Given the description of an element on the screen output the (x, y) to click on. 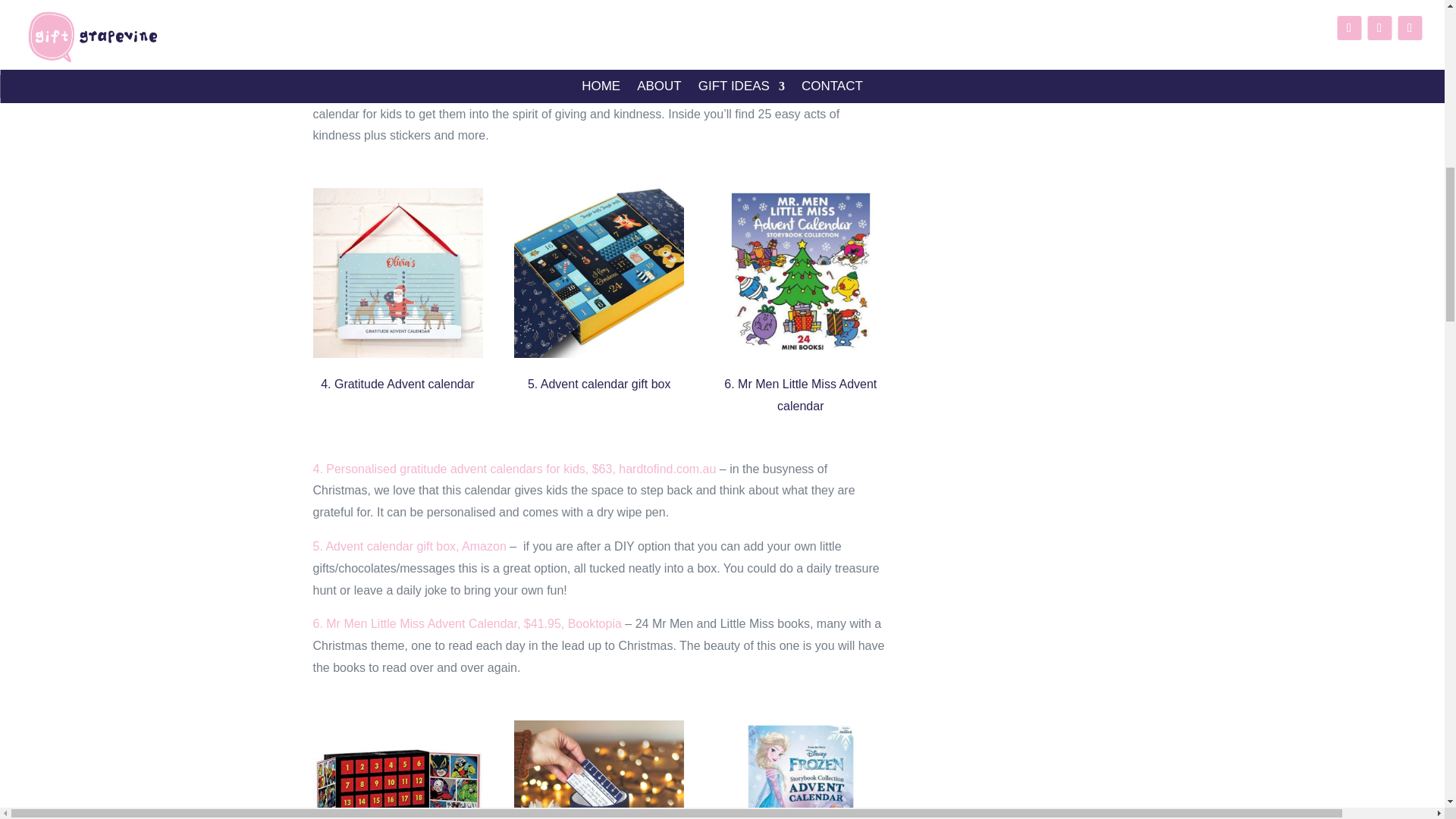
mr-men-little-miss-advent-calendar (800, 272)
frozen-storybook-collection-advent-calendar (800, 769)
gratitude-advent-calendars-for-kids (397, 272)
advent-calendar-gift-box (598, 272)
personalised-advent-jar (598, 769)
marvel-pocket-pop-advent-calendar (397, 769)
4. Gratitude Advent calendar (397, 383)
2. BIC stationery Advent calendar, Amazon (427, 35)
